Given the description of an element on the screen output the (x, y) to click on. 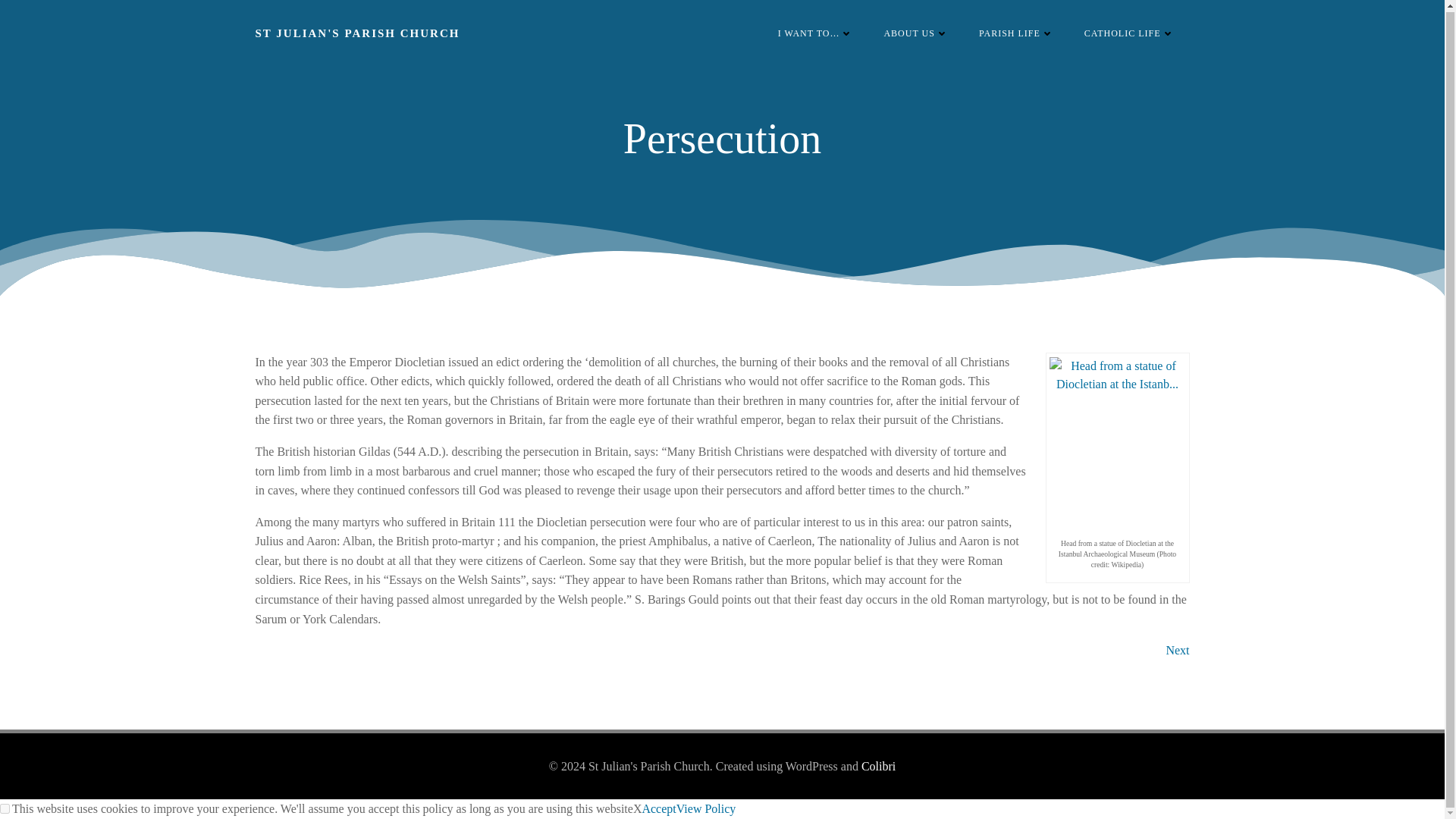
on (5, 808)
PARISH LIFE (1016, 33)
fa fa-comment-dots (815, 33)
fa fa-cross (1129, 33)
ST JULIAN'S PARISH CHURCH (357, 33)
ABOUT US (915, 33)
fa fa-church (915, 33)
CATHOLIC LIFE (1129, 33)
fa fa-child (1016, 33)
